Given the description of an element on the screen output the (x, y) to click on. 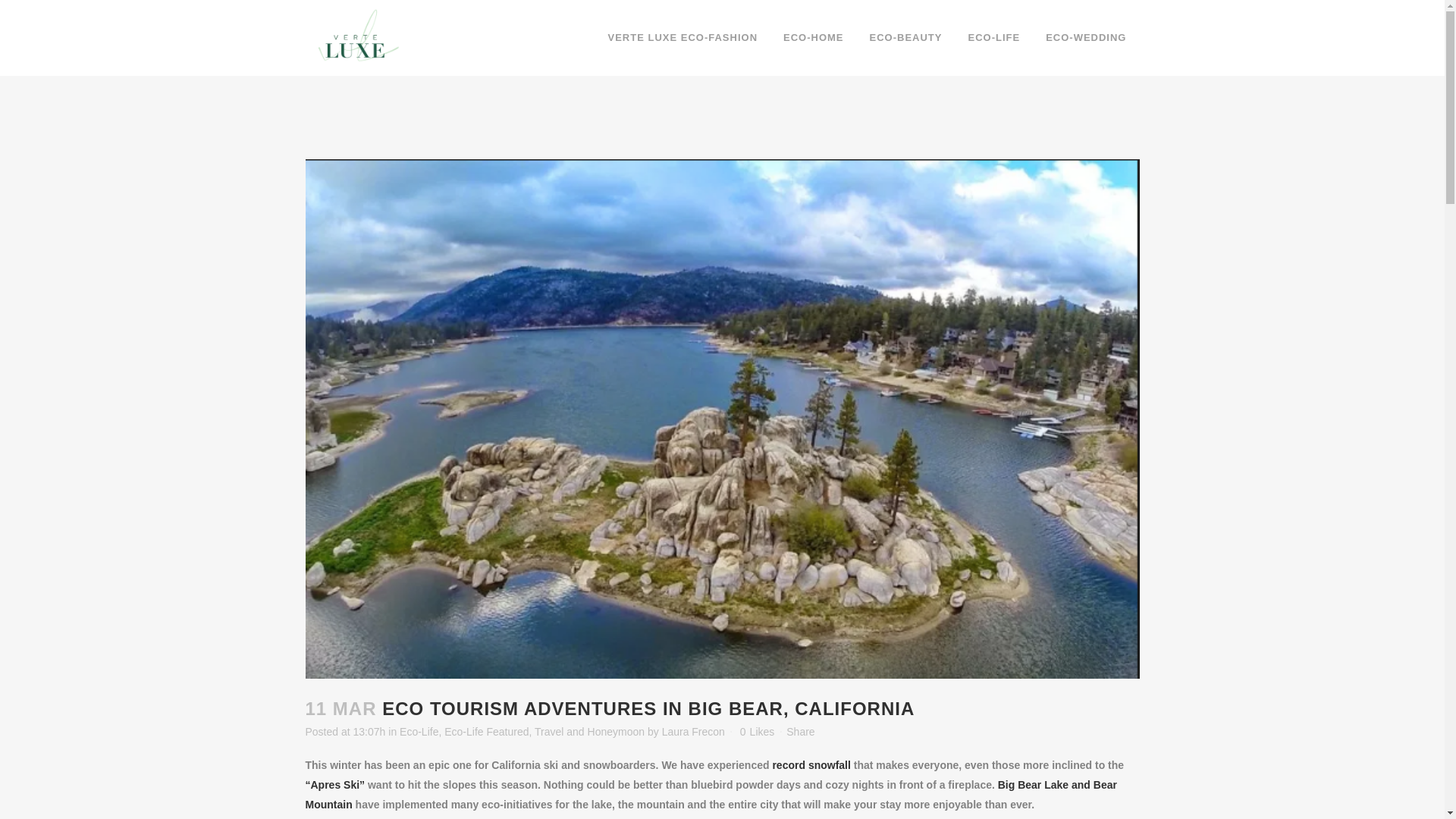
VERTE LUXE ECO-FASHION (682, 38)
0 Likes (756, 731)
Laura Frecon (693, 731)
Travel and Honeymoon (589, 731)
ECO-BEAUTY (906, 38)
Eco-Life Featured (486, 731)
Like this (756, 731)
Eco-Life (418, 731)
record snowfall (810, 765)
Big Bear Lake and Bear Mountain (710, 794)
Share (799, 731)
ECO-WEDDING (1085, 38)
ECO-HOME (813, 38)
ECO-LIFE (993, 38)
